Given the description of an element on the screen output the (x, y) to click on. 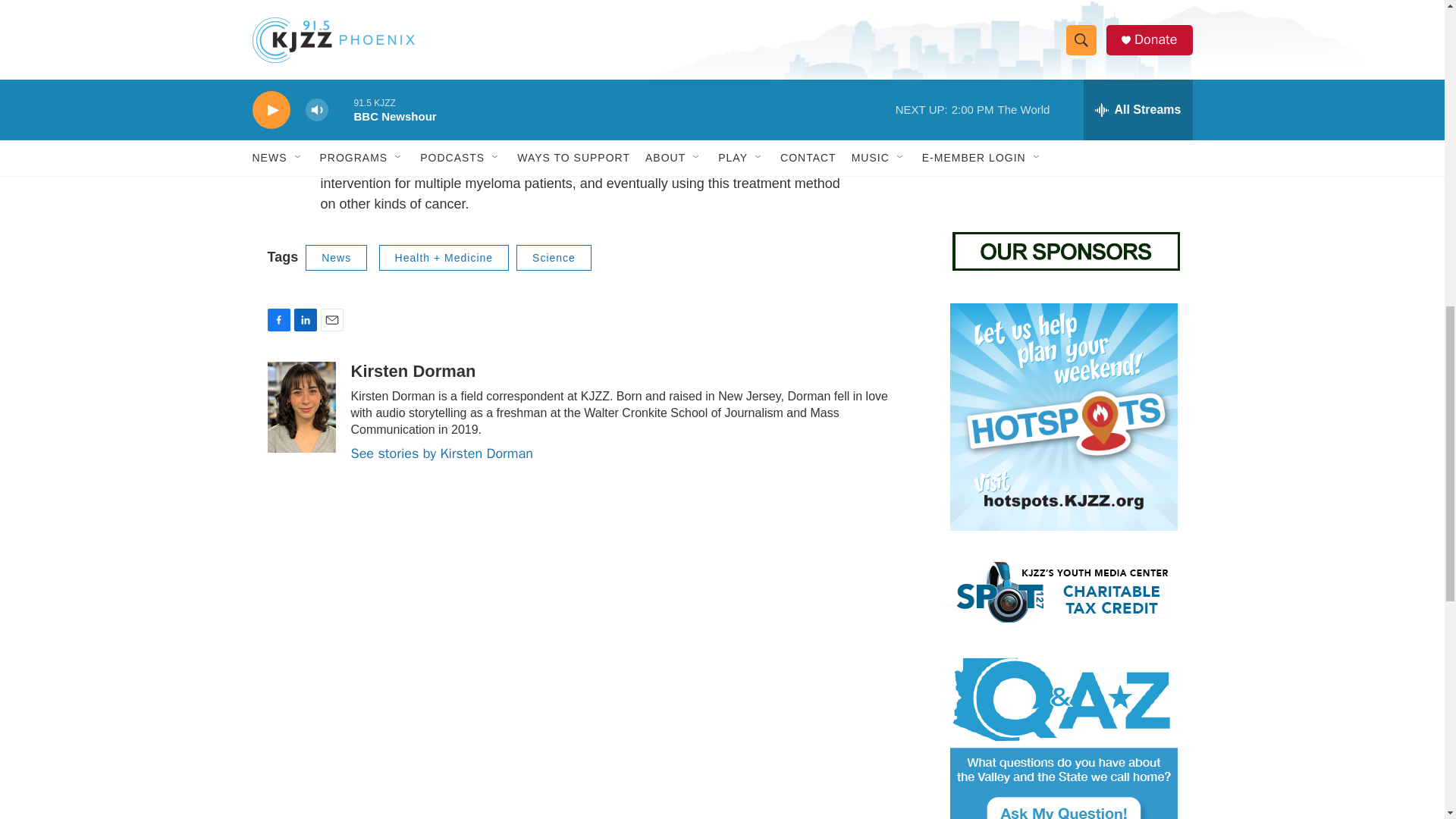
Spot 127 web site (1062, 591)
3rd party ad content (1062, 104)
